Given the description of an element on the screen output the (x, y) to click on. 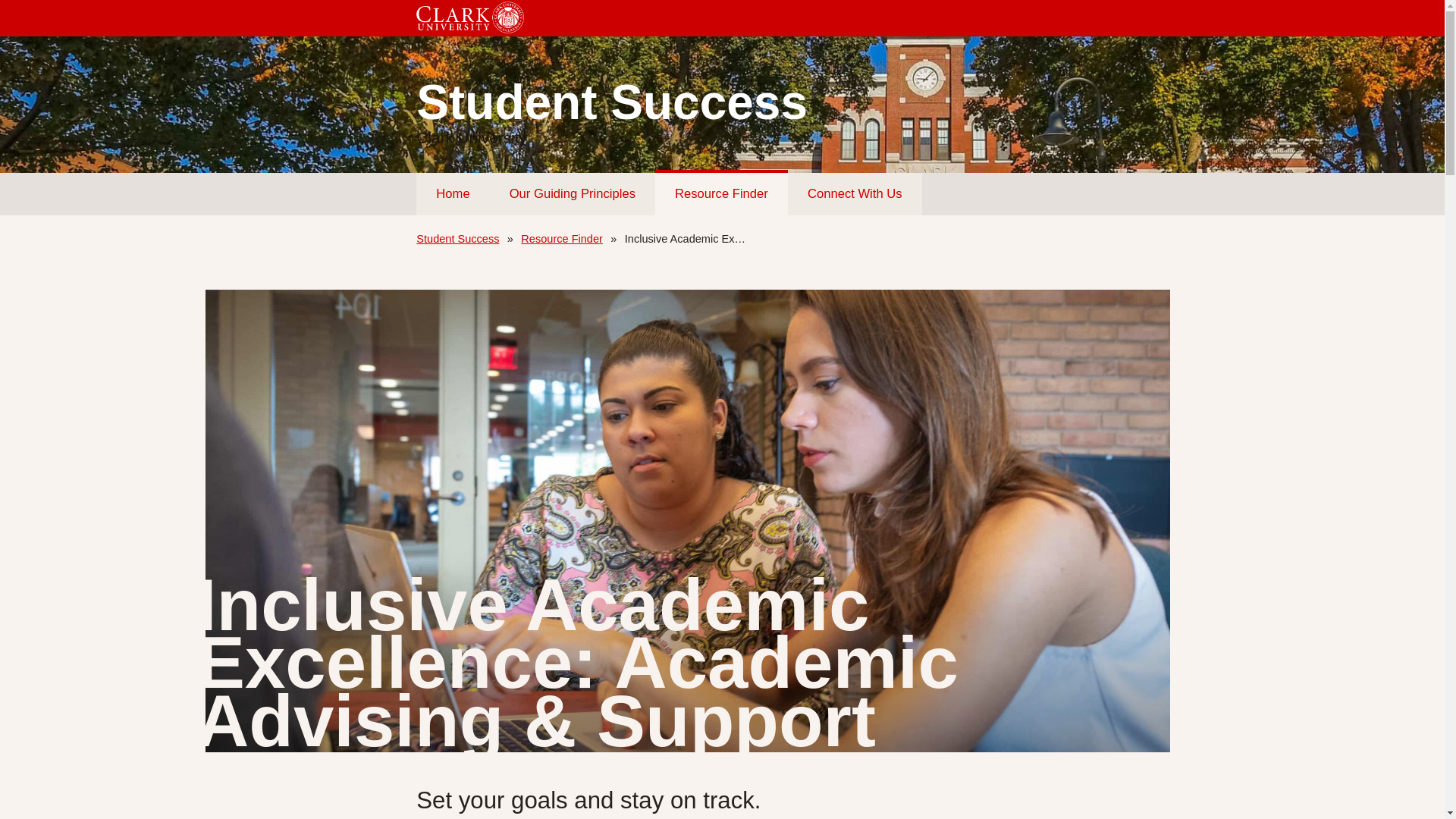
Home (452, 193)
Connect With Us (854, 193)
Our Guiding Principles (572, 193)
Student Success (721, 102)
Resource Finder (721, 192)
Student Success (457, 238)
Resource Finder (561, 238)
